Given the description of an element on the screen output the (x, y) to click on. 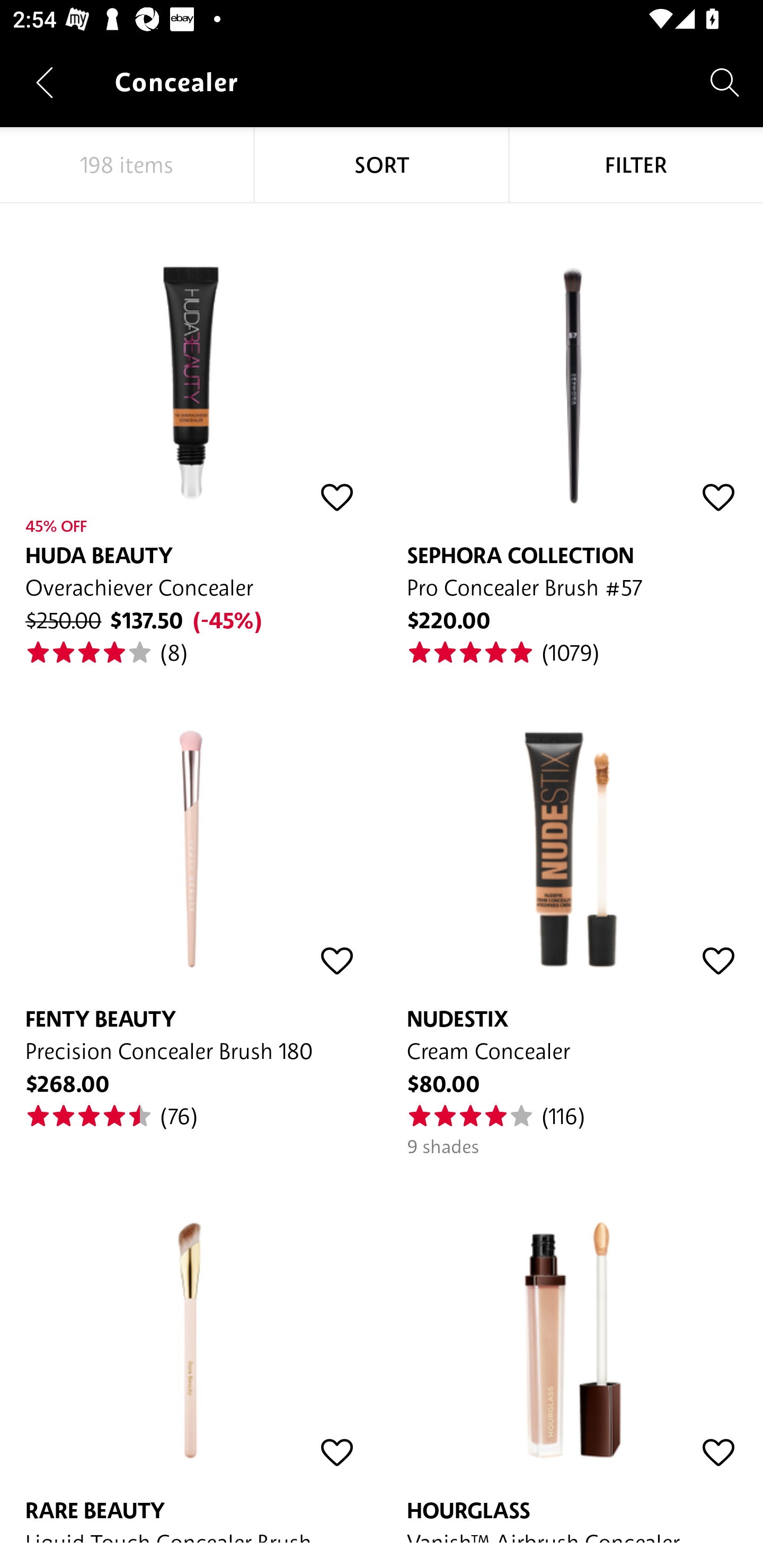
Navigate up (44, 82)
Search (724, 81)
SORT (381, 165)
FILTER (636, 165)
NUDESTIX Cream Concealer $80.00 (116) 9 shades (571, 912)
RARE BEAUTY Liquid Touch Concealer Brush $158.00 (190, 1350)
HOURGLASS Vanish™ Airbrush Concealer $320.00 (571, 1350)
